Given the description of an element on the screen output the (x, y) to click on. 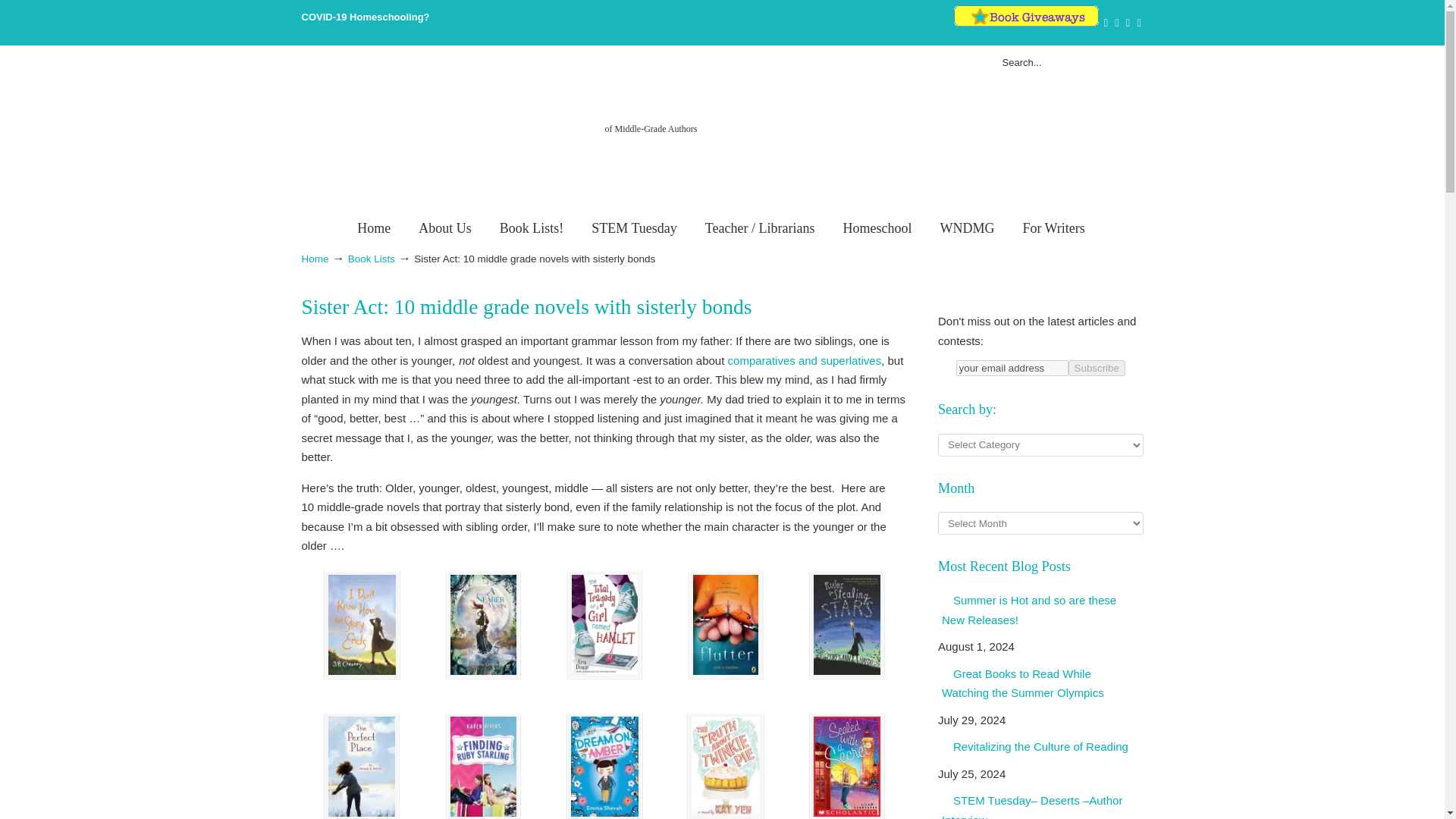
From The Mixed Up Files (721, 134)
your email address (1012, 367)
Subscribe (1096, 367)
About Us (444, 228)
search (1126, 62)
Homeschool (876, 228)
Book Lists! (531, 228)
Home (374, 228)
Search... (1051, 62)
STEM Tuesday (634, 228)
